Given the description of an element on the screen output the (x, y) to click on. 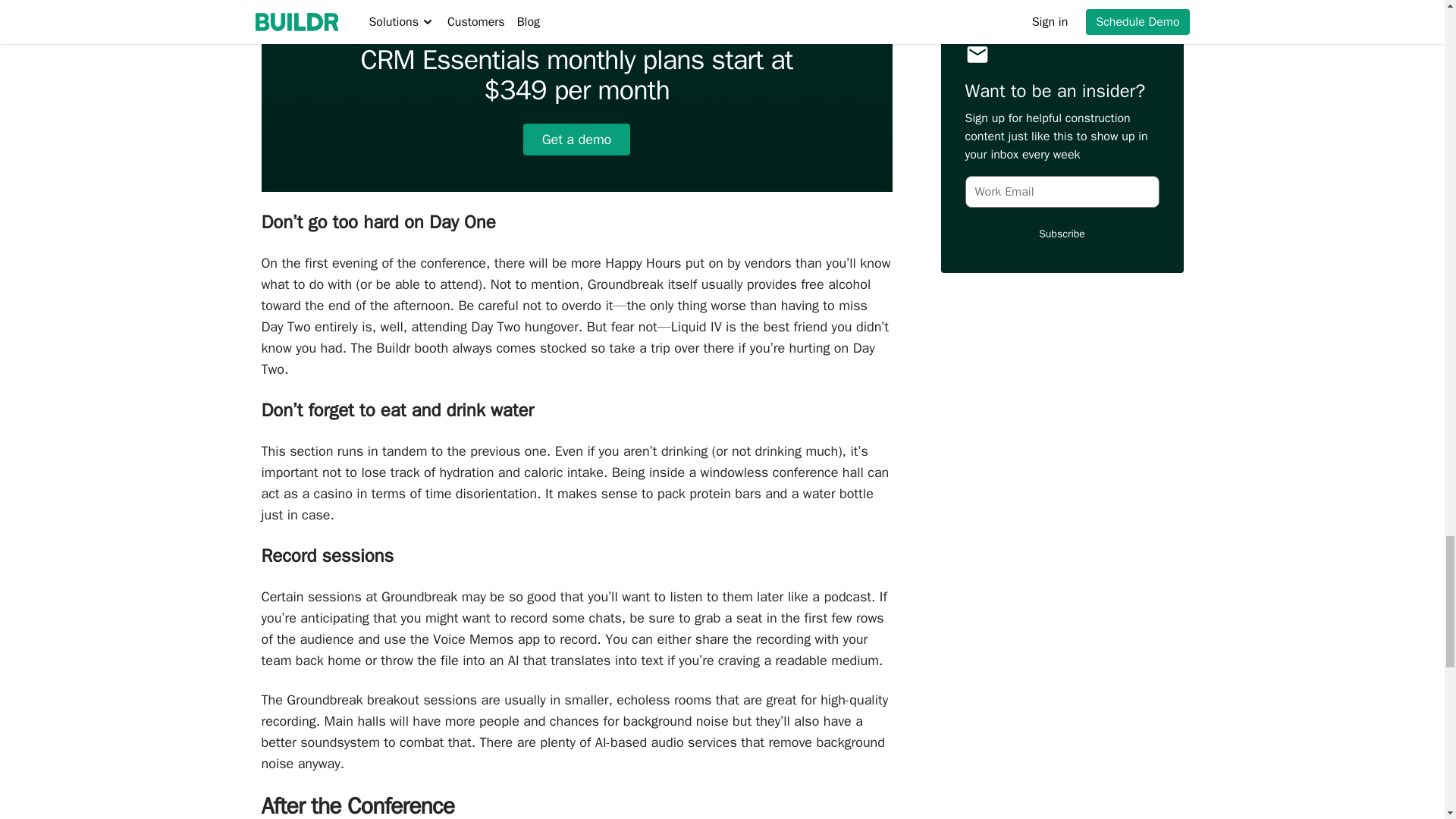
Get a demo (576, 139)
